Given the description of an element on the screen output the (x, y) to click on. 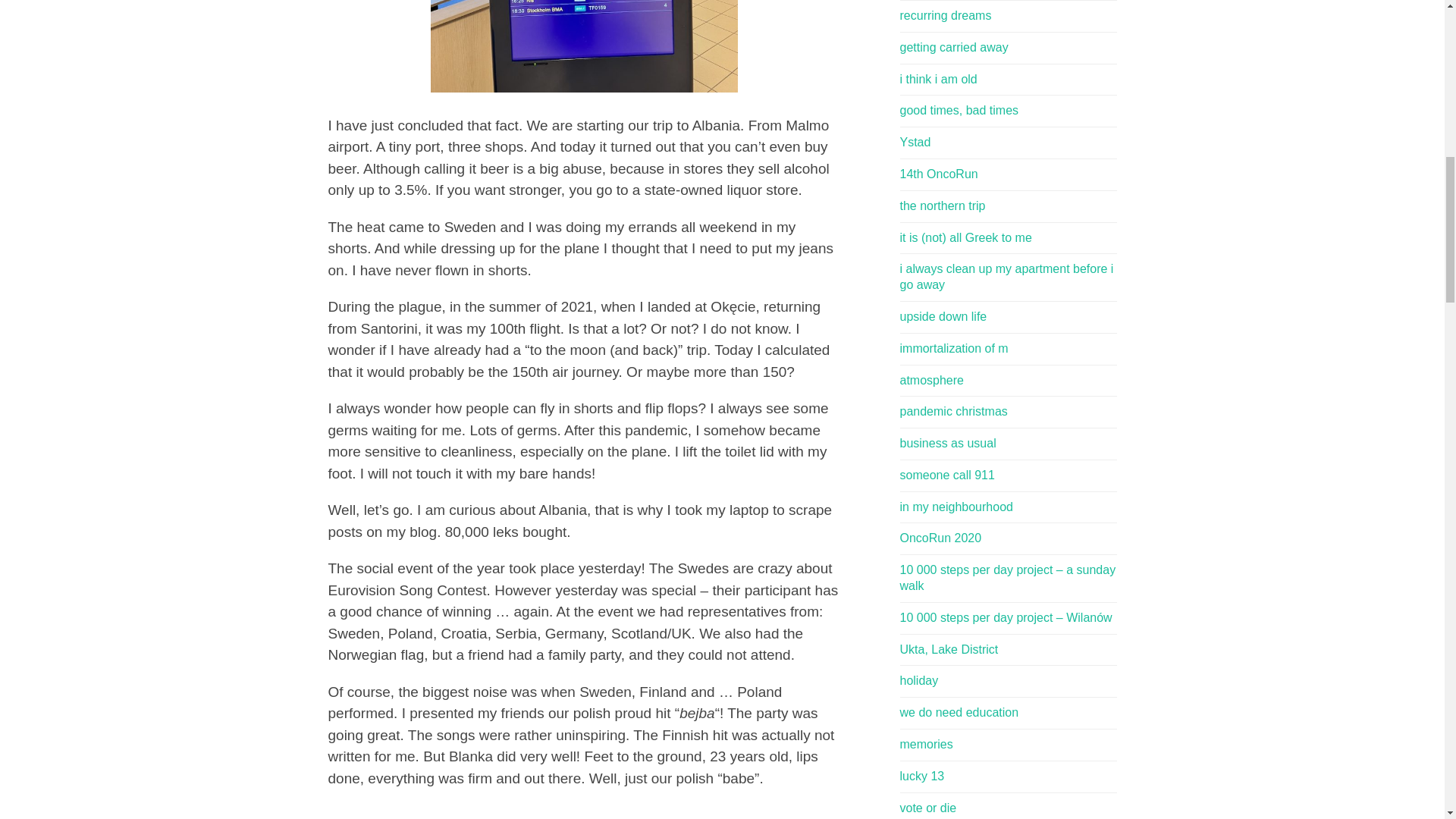
14th OncoRun (1007, 174)
getting carried away (1007, 48)
upside down life (1007, 317)
recurring dreams (1007, 16)
Ystad (1007, 142)
the northern trip (1007, 206)
immortalization of m (1007, 349)
good times, bad times (1007, 110)
i think i am old (1007, 79)
i always clean up my apartment before i go away (1007, 277)
